Given the description of an element on the screen output the (x, y) to click on. 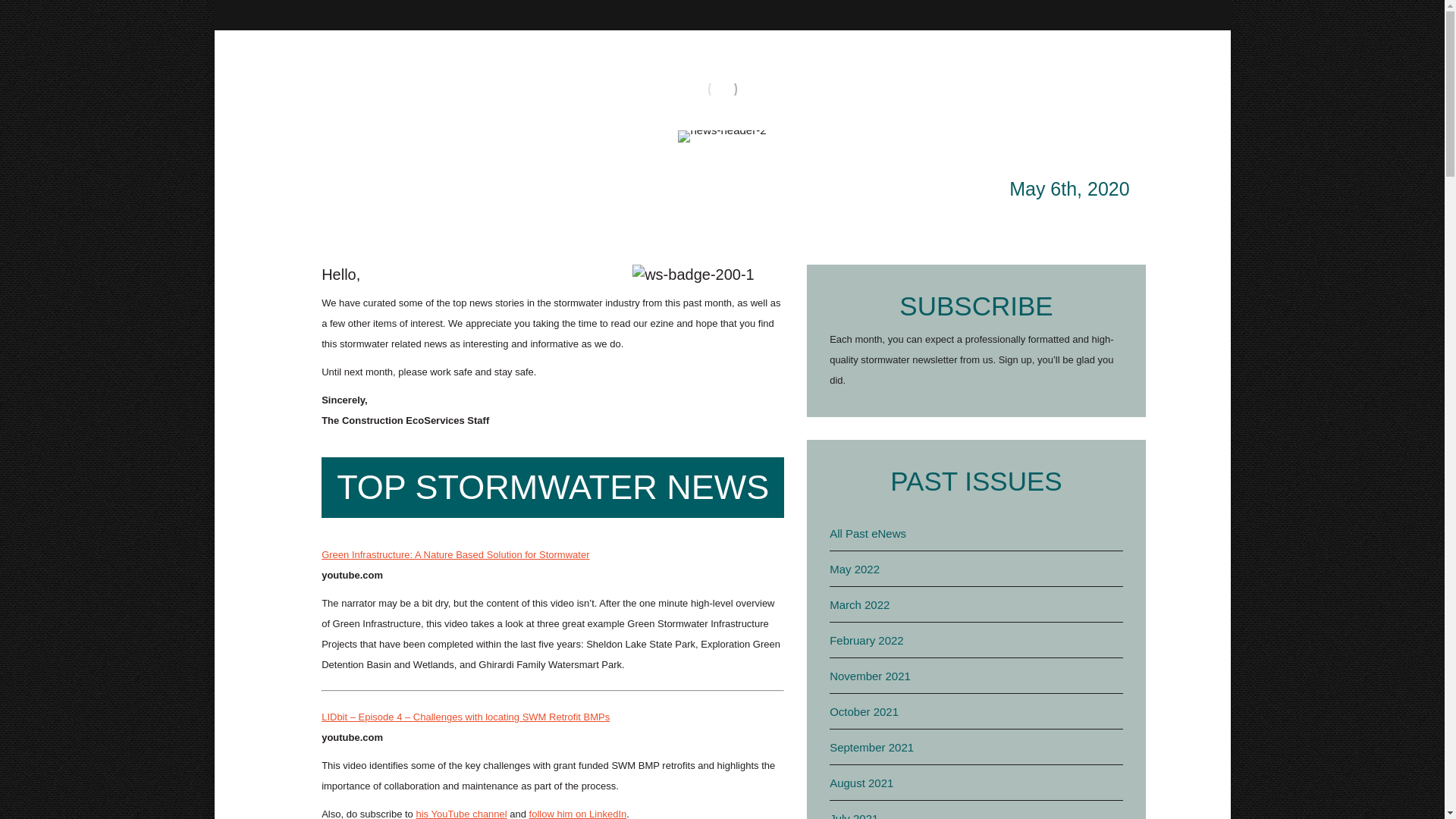
May 2022 (854, 568)
March 2022 (859, 604)
Green Infrastructure: A Nature Based Solution for Stormwater (455, 554)
August 2021 (861, 783)
All Past eNews (867, 533)
November 2021 (870, 675)
September 2021 (871, 747)
October 2021 (863, 711)
February 2022 (866, 639)
follow him on LinkedIn (578, 813)
